Given the description of an element on the screen output the (x, y) to click on. 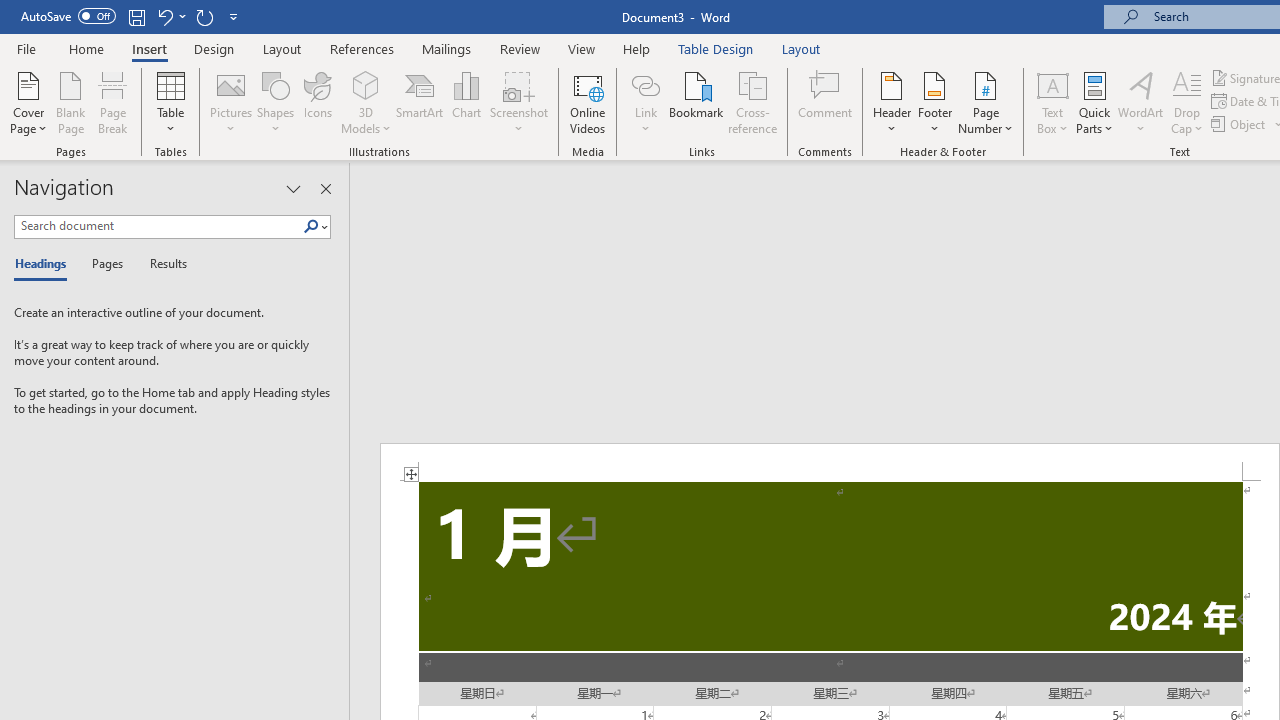
Cover Page (28, 102)
Chart... (466, 102)
Results (161, 264)
Link (645, 102)
Repeat Doc Close (204, 15)
3D Models (366, 84)
Text Box (1052, 102)
Save (136, 15)
Mailings (447, 48)
Pictures (230, 102)
Header -Section 1- (830, 461)
Bookmark... (695, 102)
Undo Increase Indent (164, 15)
